Given the description of an element on the screen output the (x, y) to click on. 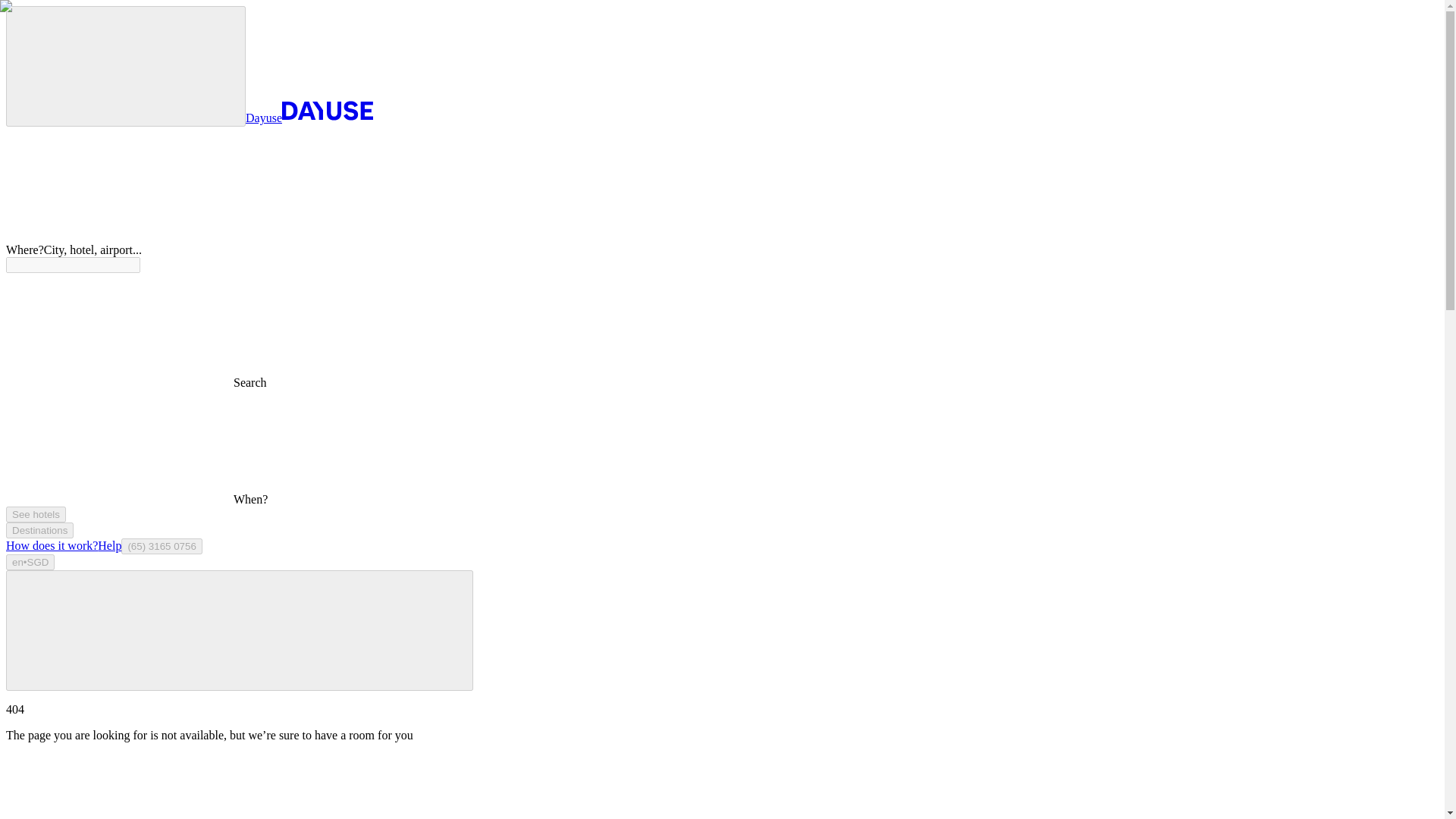
Destinations (39, 530)
Dayuse (309, 117)
See hotels (35, 514)
How does it work? (51, 545)
Help (108, 545)
